Given the description of an element on the screen output the (x, y) to click on. 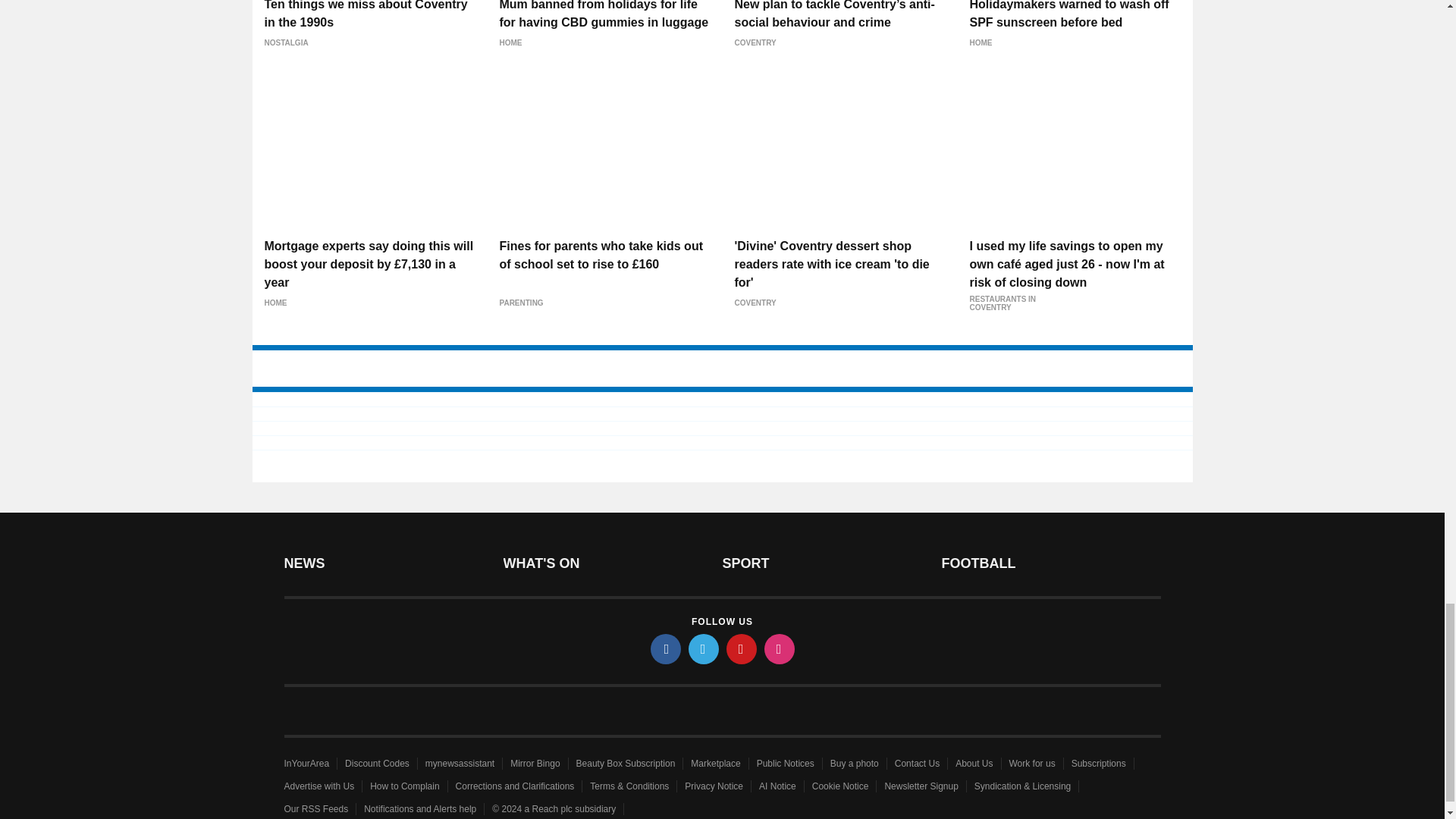
facebook (665, 648)
instagram (779, 648)
pinterest (741, 648)
twitter (703, 648)
